Given the description of an element on the screen output the (x, y) to click on. 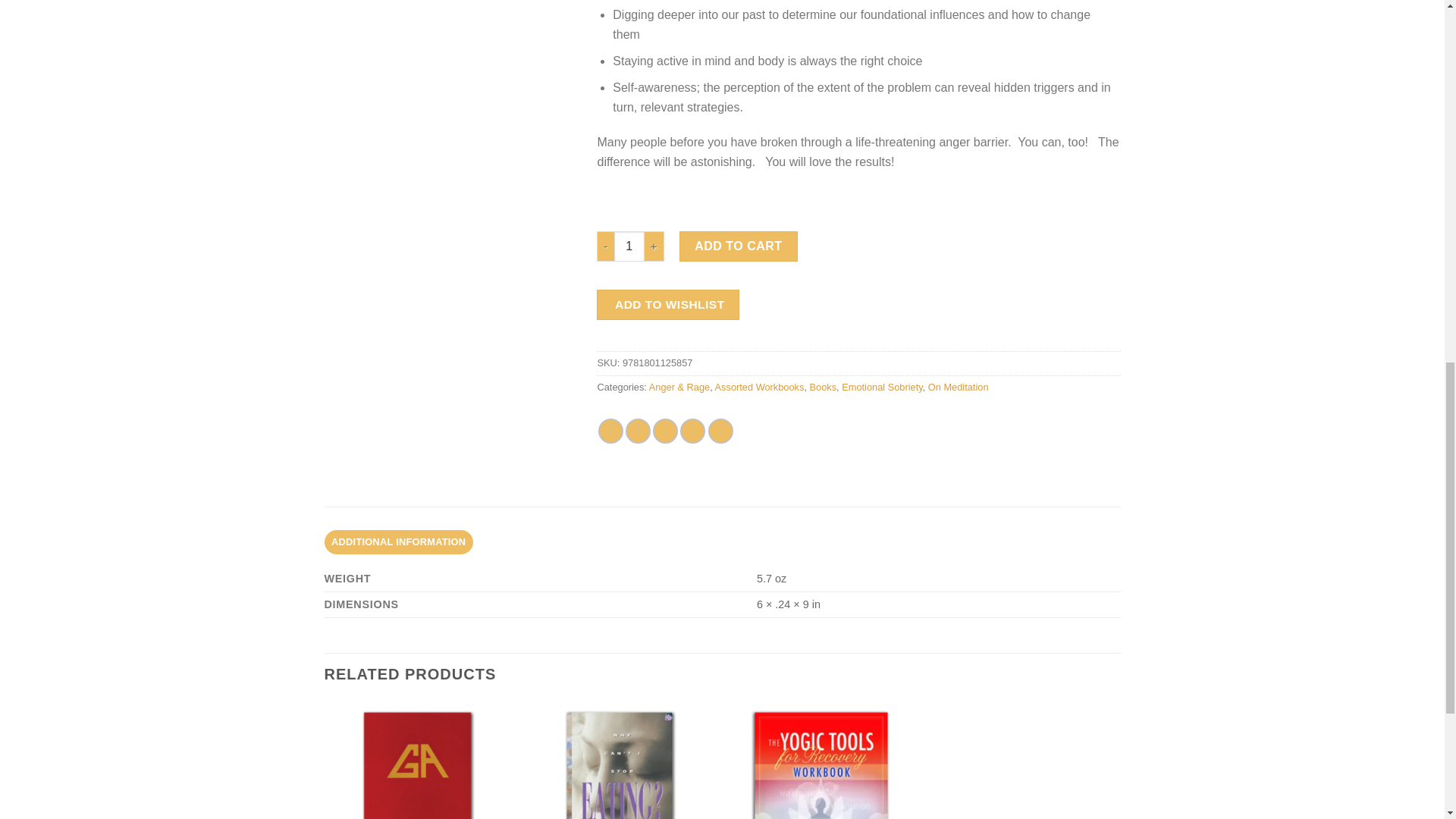
Pin on Pinterest (691, 430)
Share on Facebook (610, 430)
Share on Twitter (638, 430)
Share on LinkedIn (720, 430)
1 (629, 245)
Email to a Friend (665, 430)
